Given the description of an element on the screen output the (x, y) to click on. 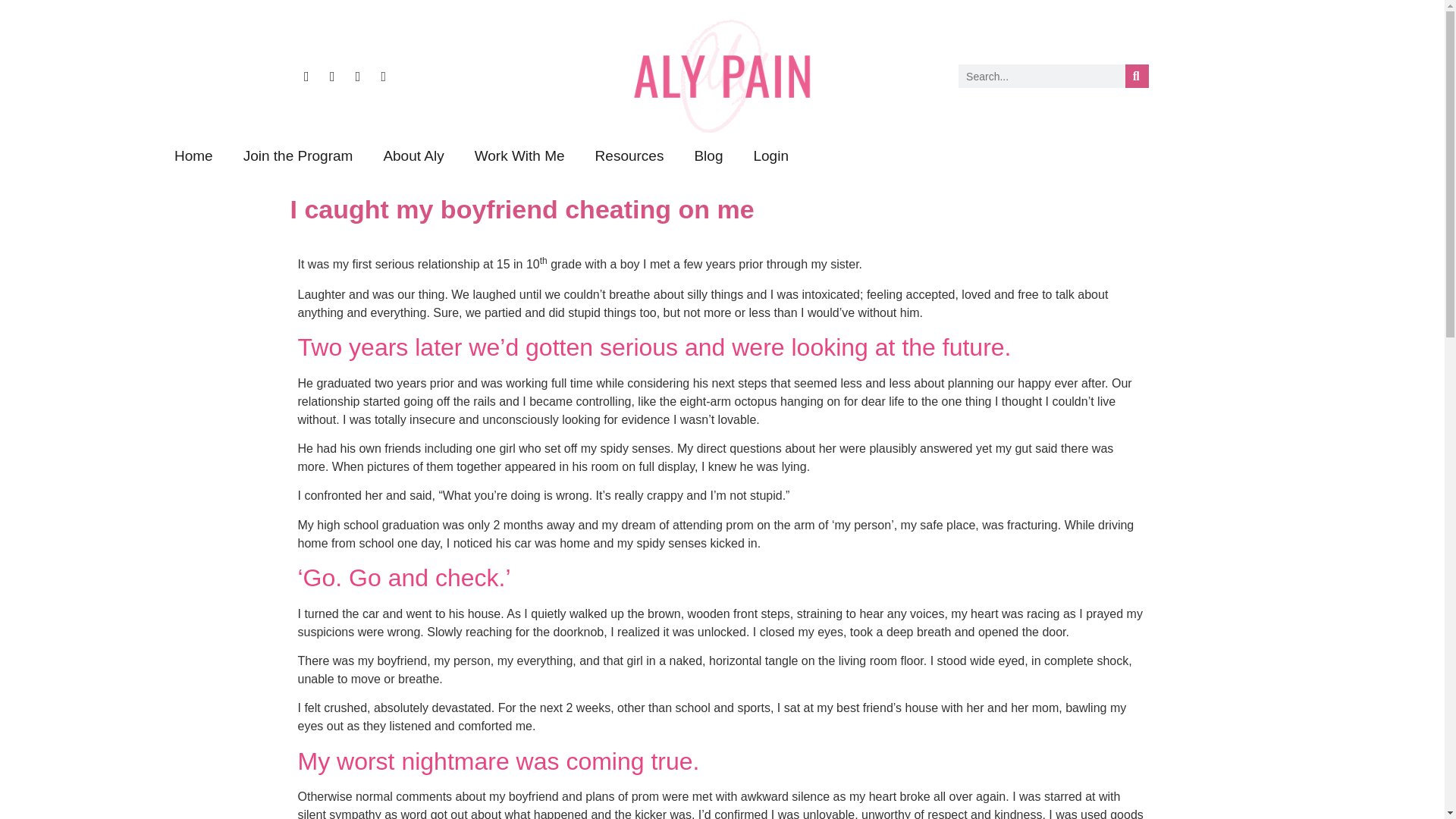
Join the Program (298, 156)
Home (193, 156)
Resources (629, 156)
About Aly (413, 156)
Work With Me (519, 156)
Login (770, 156)
Blog (708, 156)
